Given the description of an element on the screen output the (x, y) to click on. 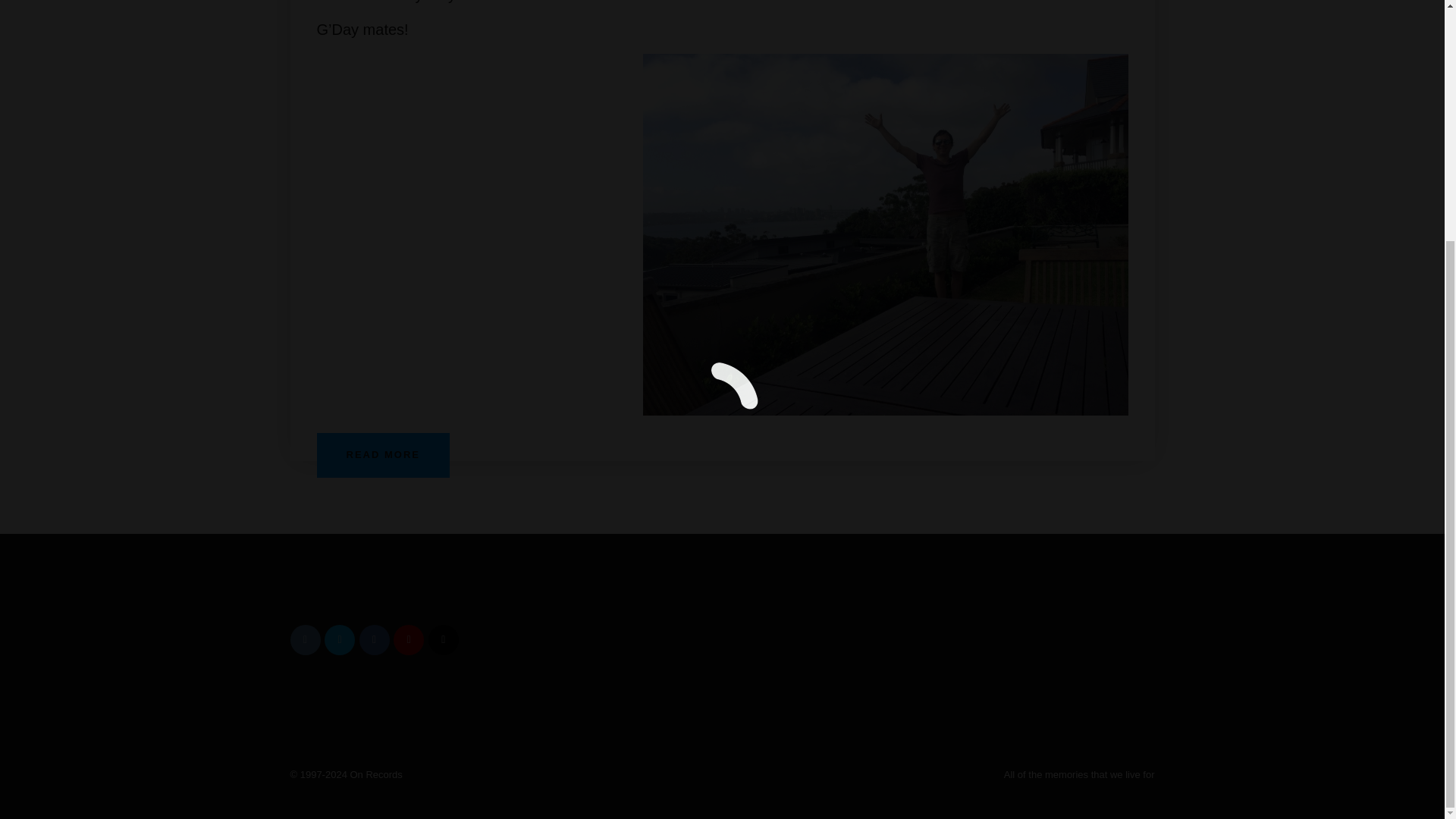
READ MORE (383, 455)
